Given the description of an element on the screen output the (x, y) to click on. 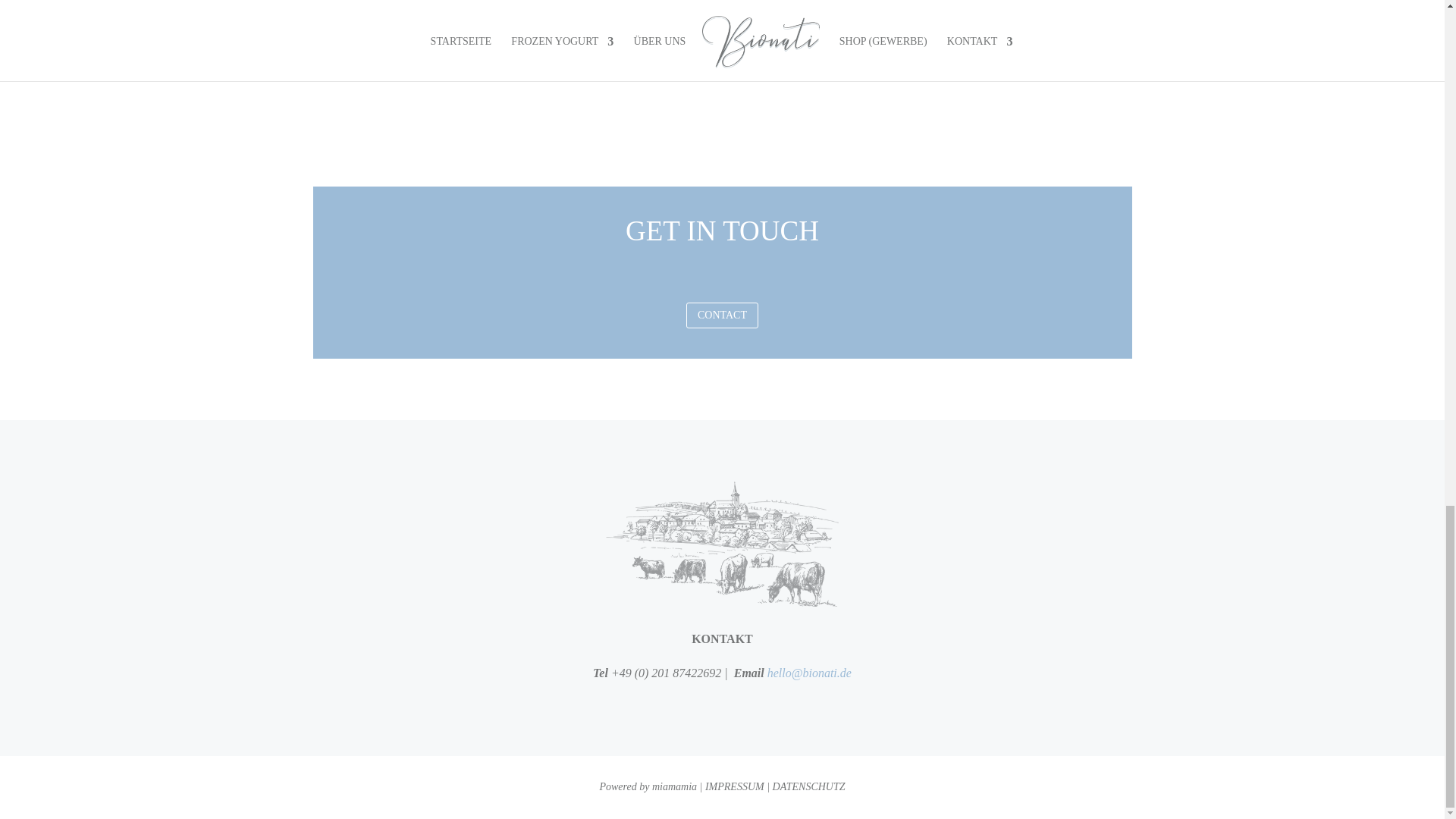
DATENSCHUTZ (809, 786)
CONTACT (721, 315)
IMPRESSUM (734, 786)
miamamia (674, 786)
